Given the description of an element on the screen output the (x, y) to click on. 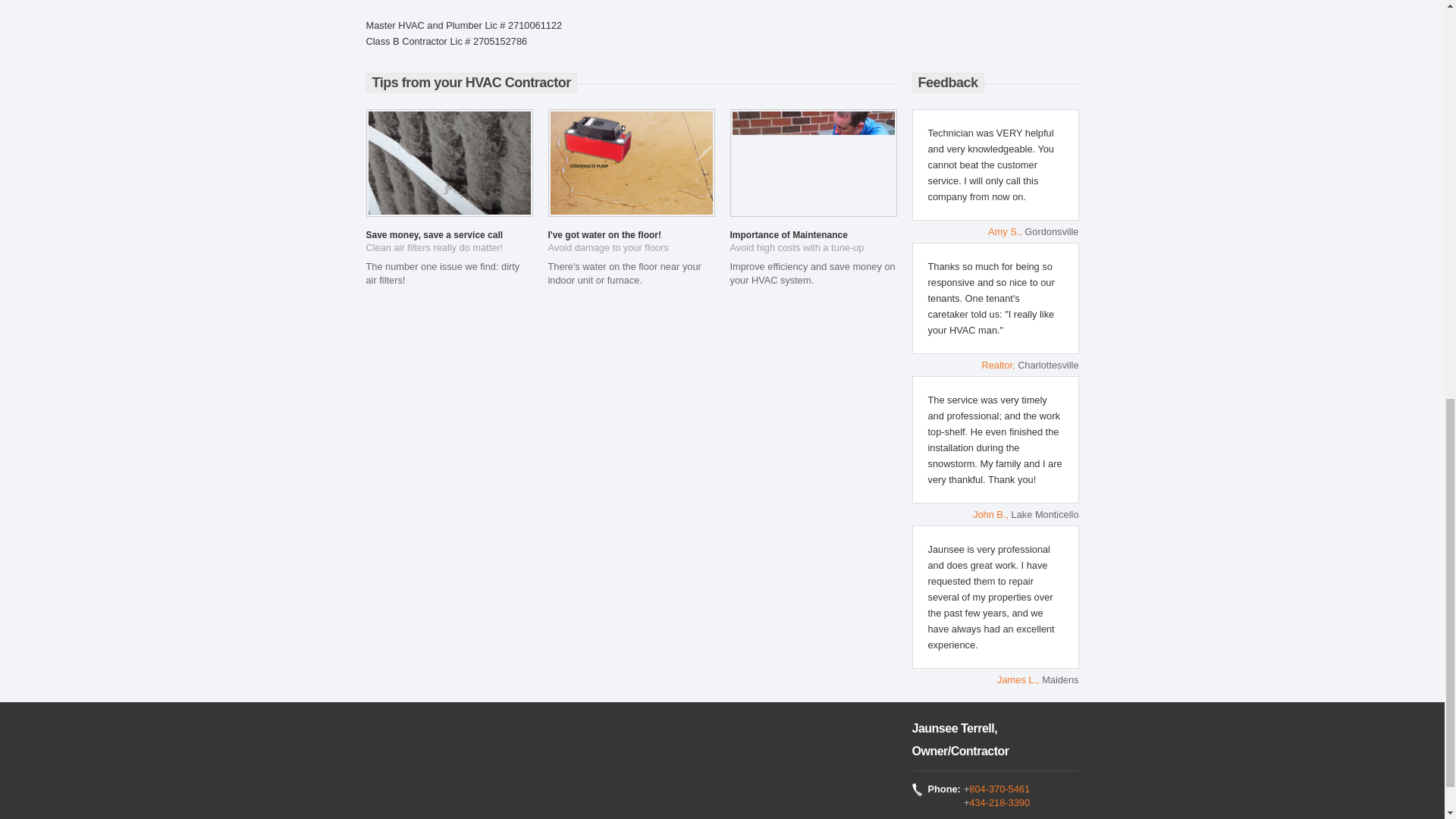
Save money, save a service call (433, 235)
Importance of Maintenance (788, 235)
804-370-5461 (999, 788)
434-218-3390 (999, 802)
I've got water on the floor! (604, 235)
